Given the description of an element on the screen output the (x, y) to click on. 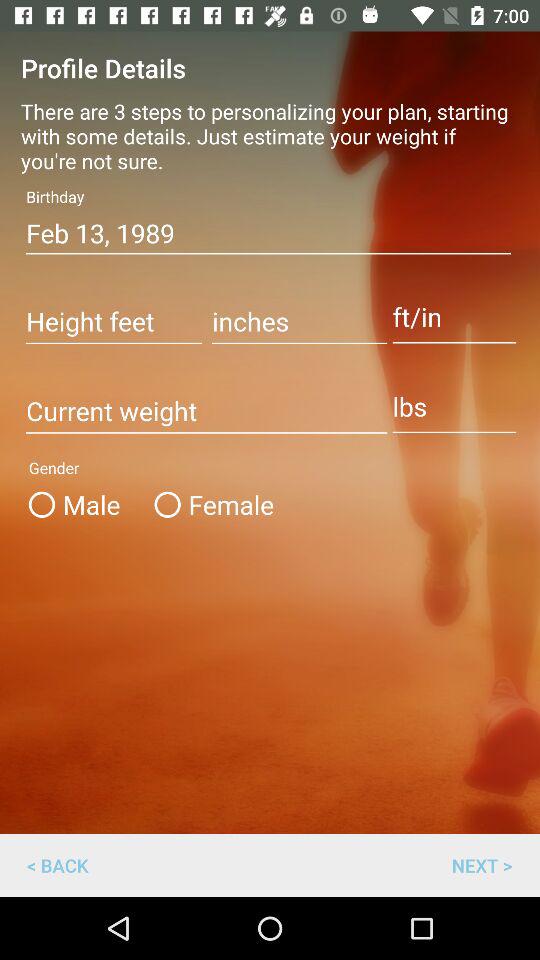
jump to female icon (210, 504)
